Given the description of an element on the screen output the (x, y) to click on. 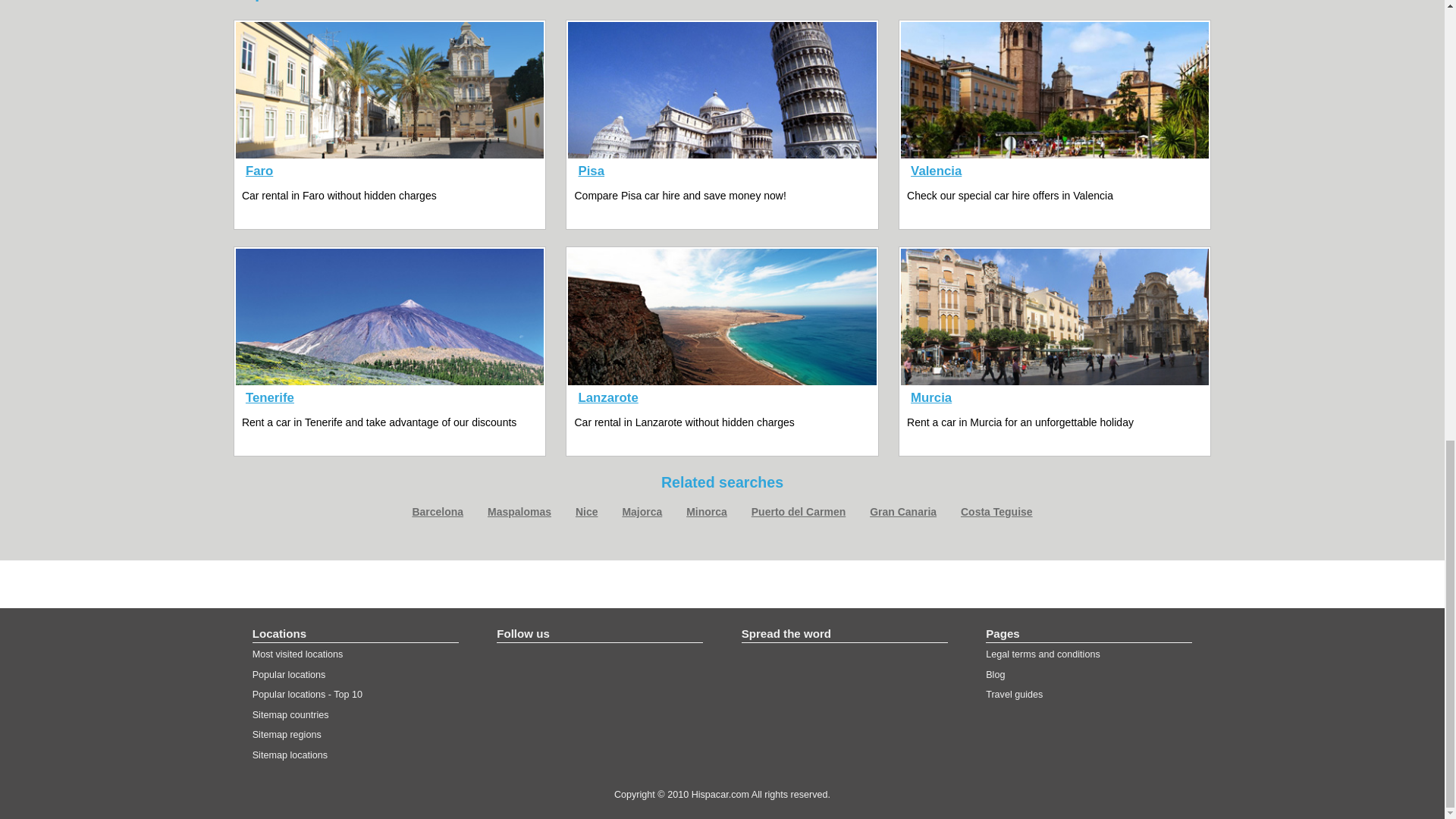
Pisa (591, 171)
Valencia (935, 171)
Faro (259, 171)
Murcia (931, 397)
Puerto del Carmen (798, 511)
Maspalomas (519, 511)
Tenerife (270, 397)
Majorca (641, 511)
Minorca (705, 511)
Barcelona (437, 511)
